Given the description of an element on the screen output the (x, y) to click on. 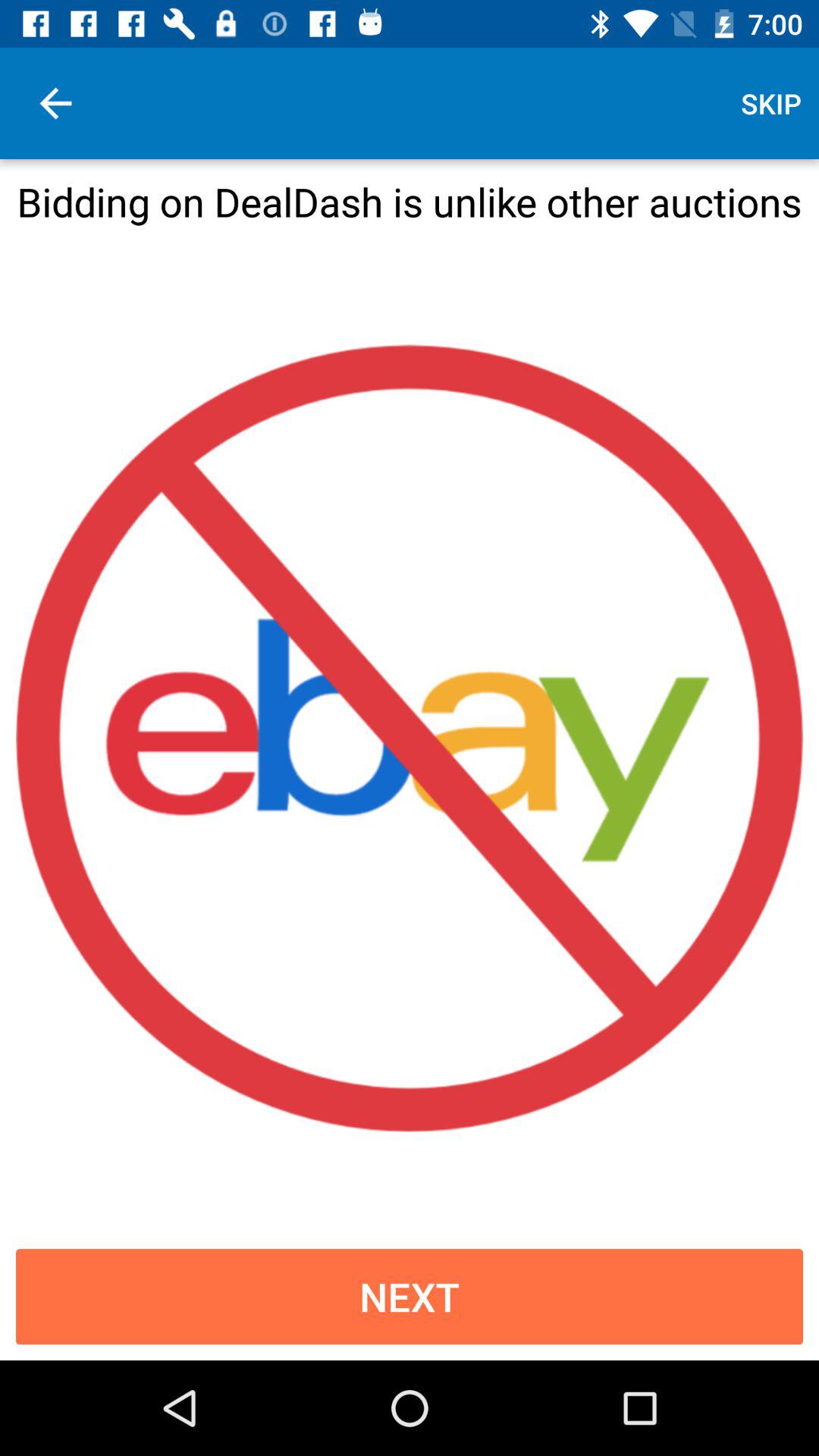
choose the item above the bidding on dealdash item (55, 103)
